Given the description of an element on the screen output the (x, y) to click on. 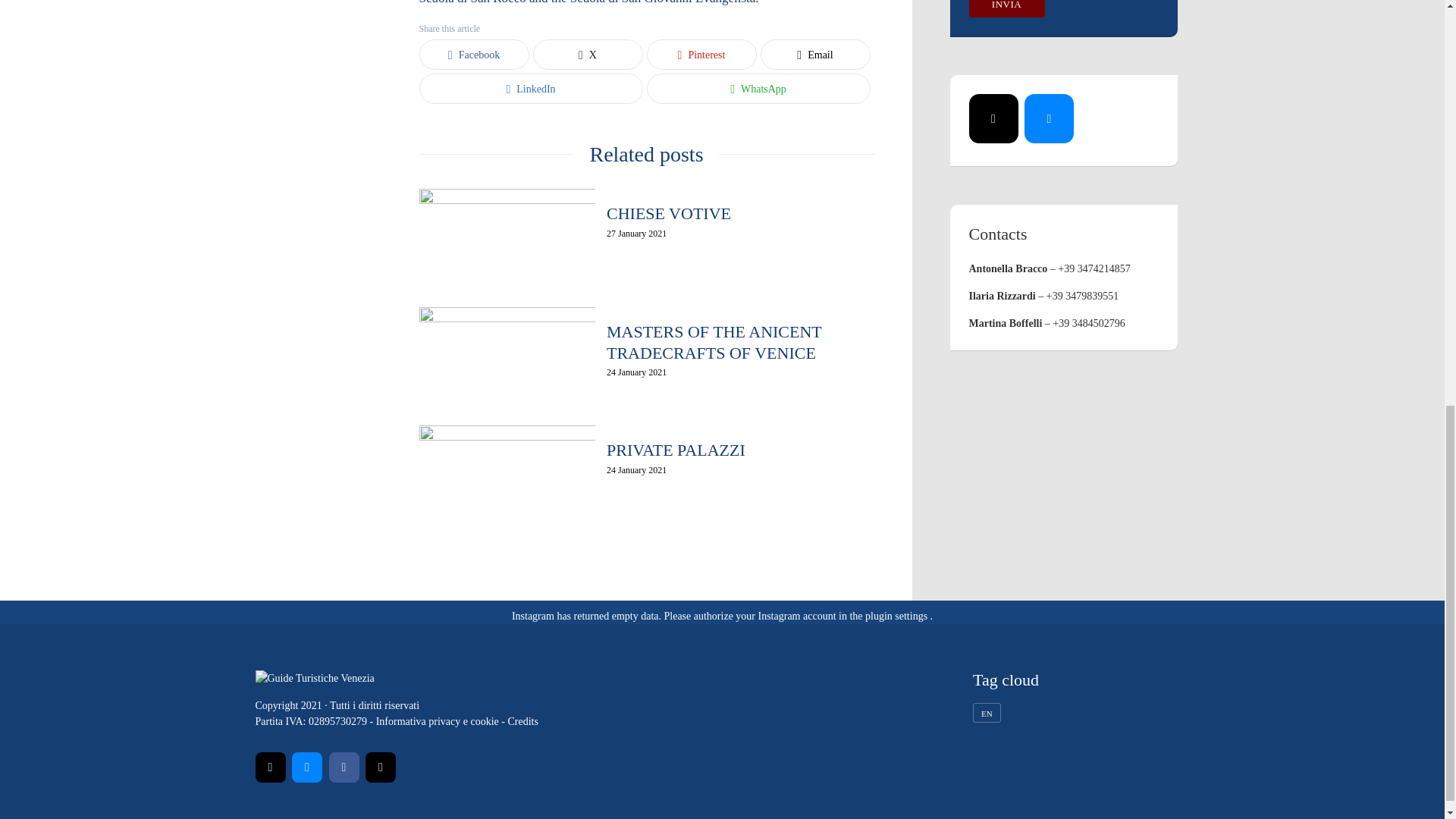
Facebook Messenger (306, 767)
Facebook Messenger (1049, 118)
Mail (993, 118)
Mail (269, 767)
Facebook (344, 767)
Instagram (380, 767)
